Given the description of an element on the screen output the (x, y) to click on. 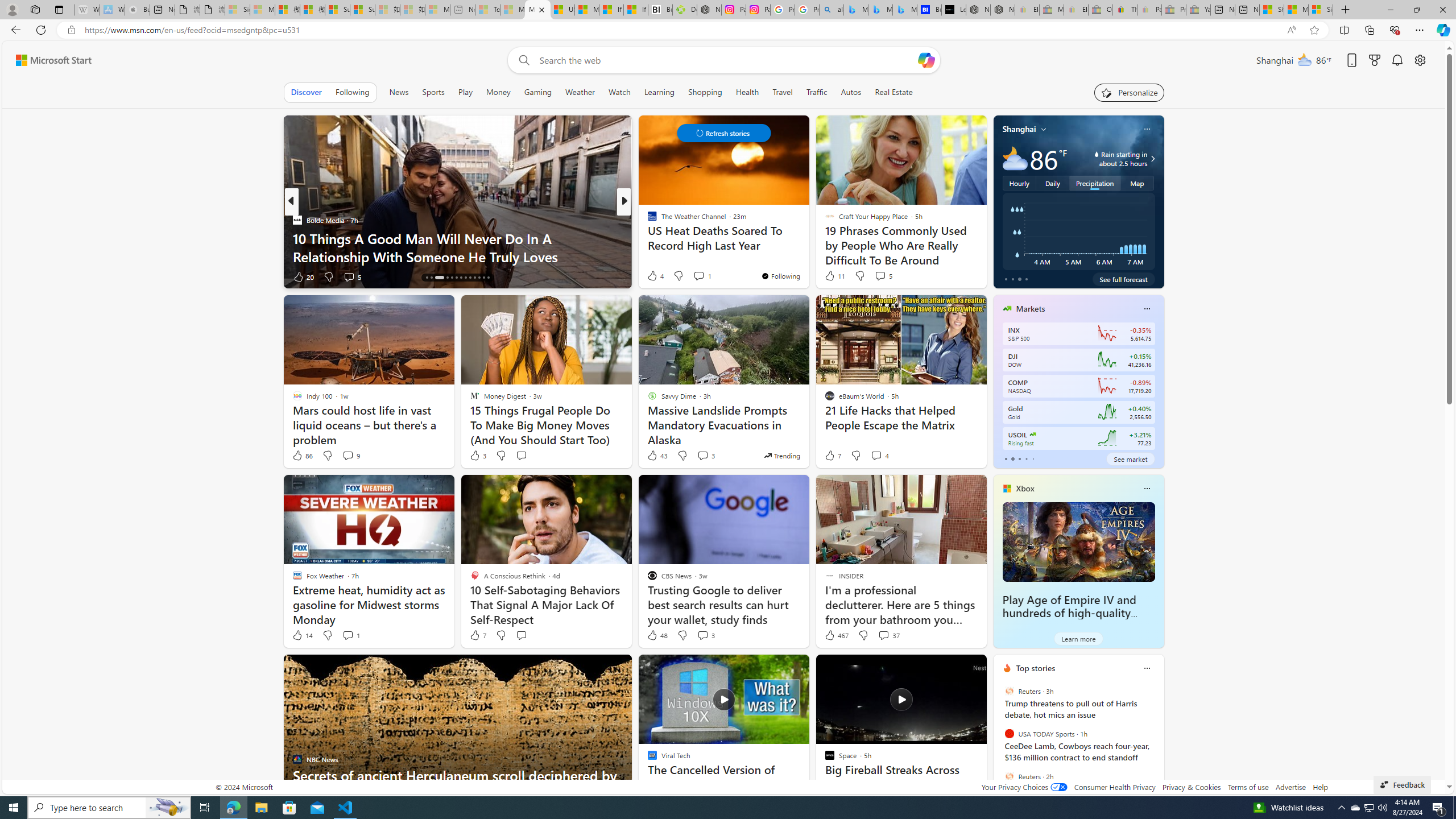
View comments 37 Comment (888, 634)
USA TODAY Sports (1008, 733)
Top stories (1035, 668)
alabama high school quarterback dies - Search (830, 9)
86 Like (301, 455)
water-drop-icon (1096, 154)
Precipitation (1094, 183)
See market (1130, 459)
Autos (850, 92)
Sports (432, 92)
14 Like (301, 634)
